Given the description of an element on the screen output the (x, y) to click on. 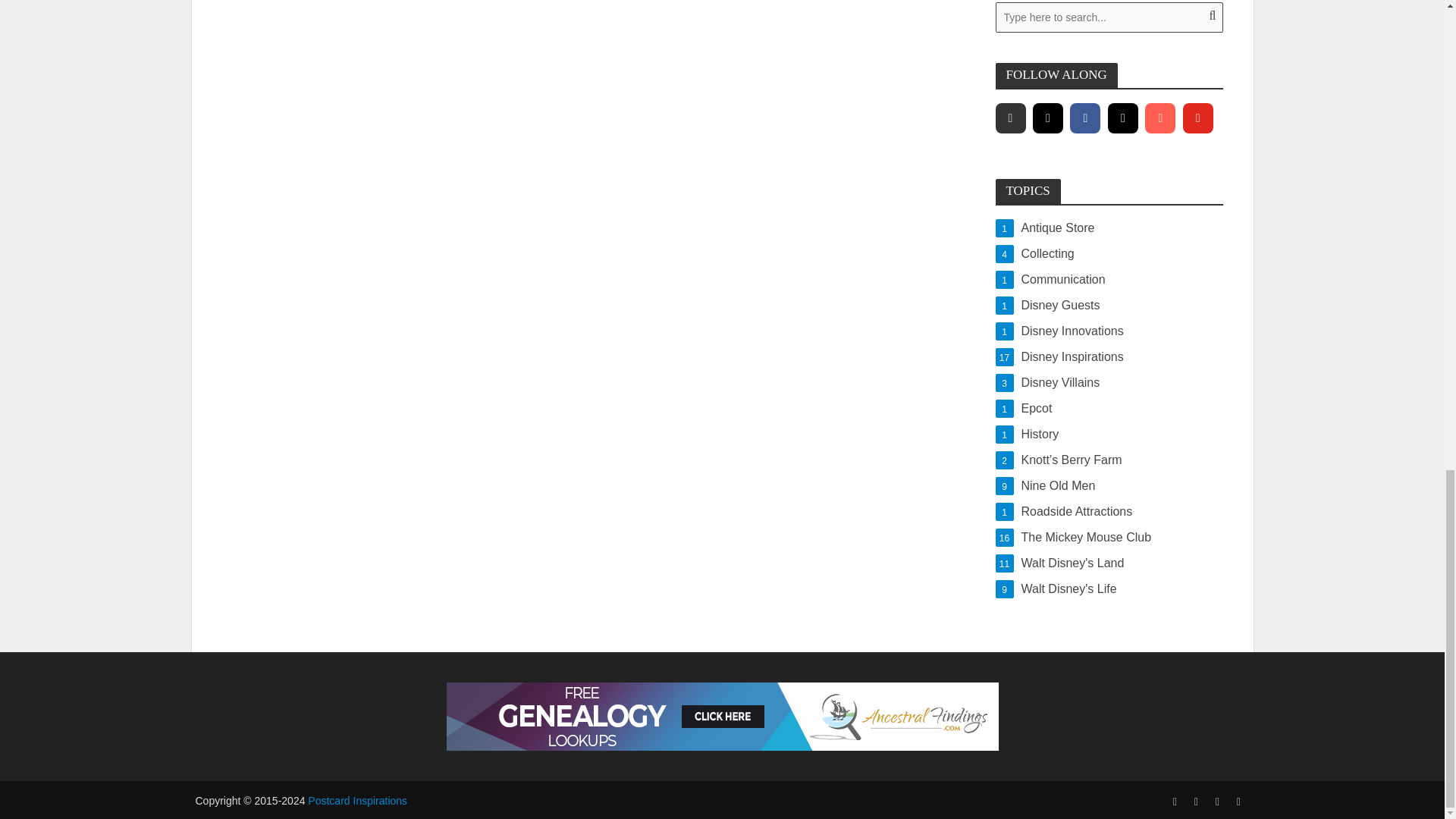
ebay (1009, 118)
YouTube (1197, 118)
Mail (1108, 253)
mail (1123, 118)
iTunes (1123, 118)
Facebook (1159, 118)
Instagram (1108, 280)
youtube (1085, 118)
